Given the description of an element on the screen output the (x, y) to click on. 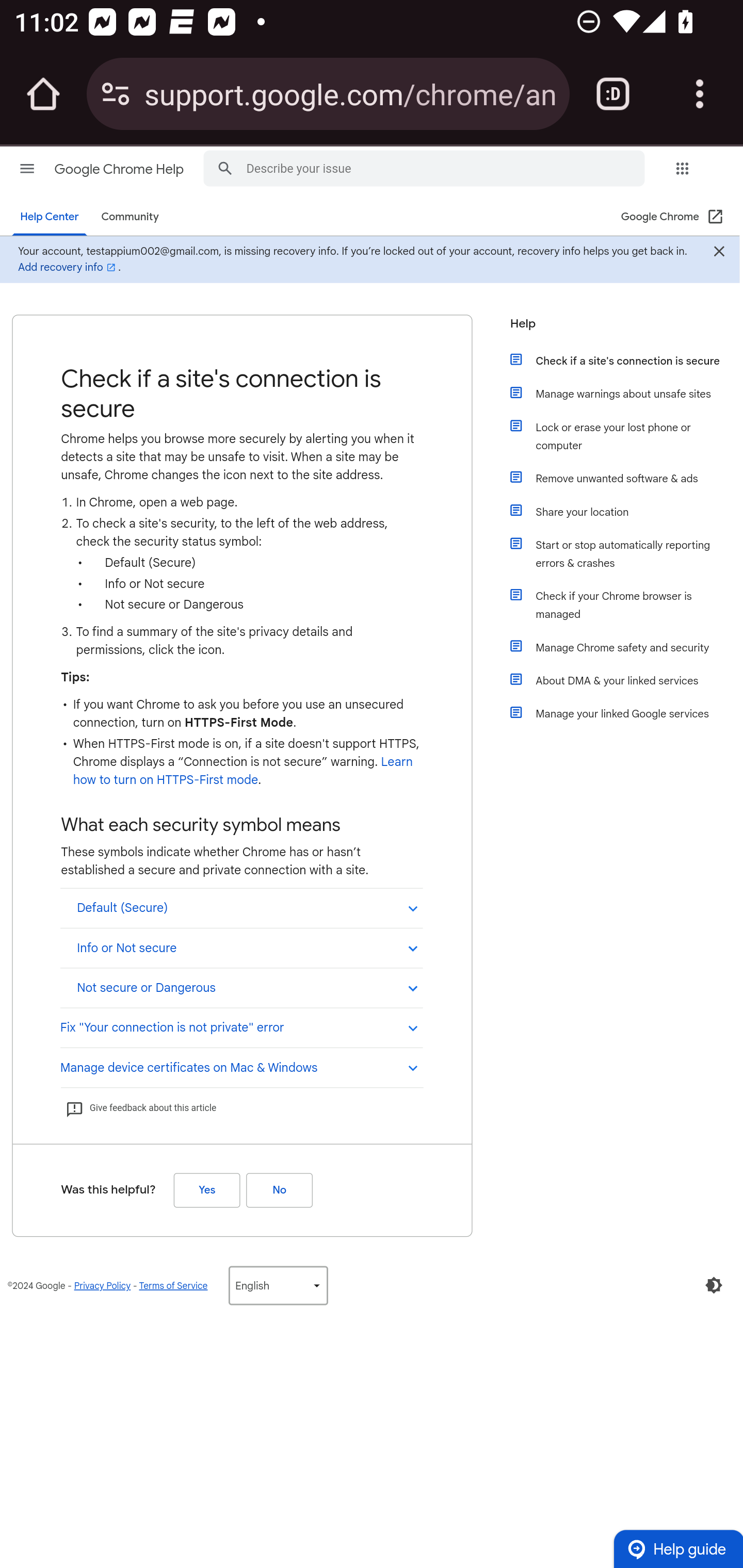
Open the home page (43, 93)
Connection is secure (115, 93)
Switch or close tabs (612, 93)
Customize and control Google Chrome (699, 93)
Main menu (27, 168)
Google Chrome Help (120, 169)
Search Help Center (224, 167)
Google apps (681, 168)
Help Center (48, 217)
Community (129, 217)
Google Chrome (Open in a new window) Google Chrome (672, 217)
Close (718, 252)
Add recovery info (67, 267)
Help Help Help (618, 328)
Check if a site's connection is secure (626, 360)
Manage warnings about unsafe sites (626, 393)
Lock or erase your lost phone or computer (626, 436)
Remove unwanted software & ads (626, 477)
Share your location (626, 511)
Check if your Chrome browser is managed (626, 604)
Manage Chrome safety and security (626, 647)
About DMA & your linked services (626, 680)
Manage your linked Google services (626, 713)
Learn how to turn on HTTPS-First mode (242, 770)
Default (Secure) Default (Secure) (240, 907)
View site information Info or Not secure (240, 946)
Dangerous Not secure or Dangerous (240, 987)
Fix "Your connection is not private" error (240, 1026)
Manage device certificates on Mac & Windows (240, 1065)
Give feedback about this article (140, 1107)
Yes (Was this helpful?) (206, 1189)
No (Was this helpful?) (278, 1189)
Language (English‎) (277, 1284)
Enable Dark Mode (713, 1284)
Privacy Policy (101, 1285)
Terms of Service (173, 1285)
